Given the description of an element on the screen output the (x, y) to click on. 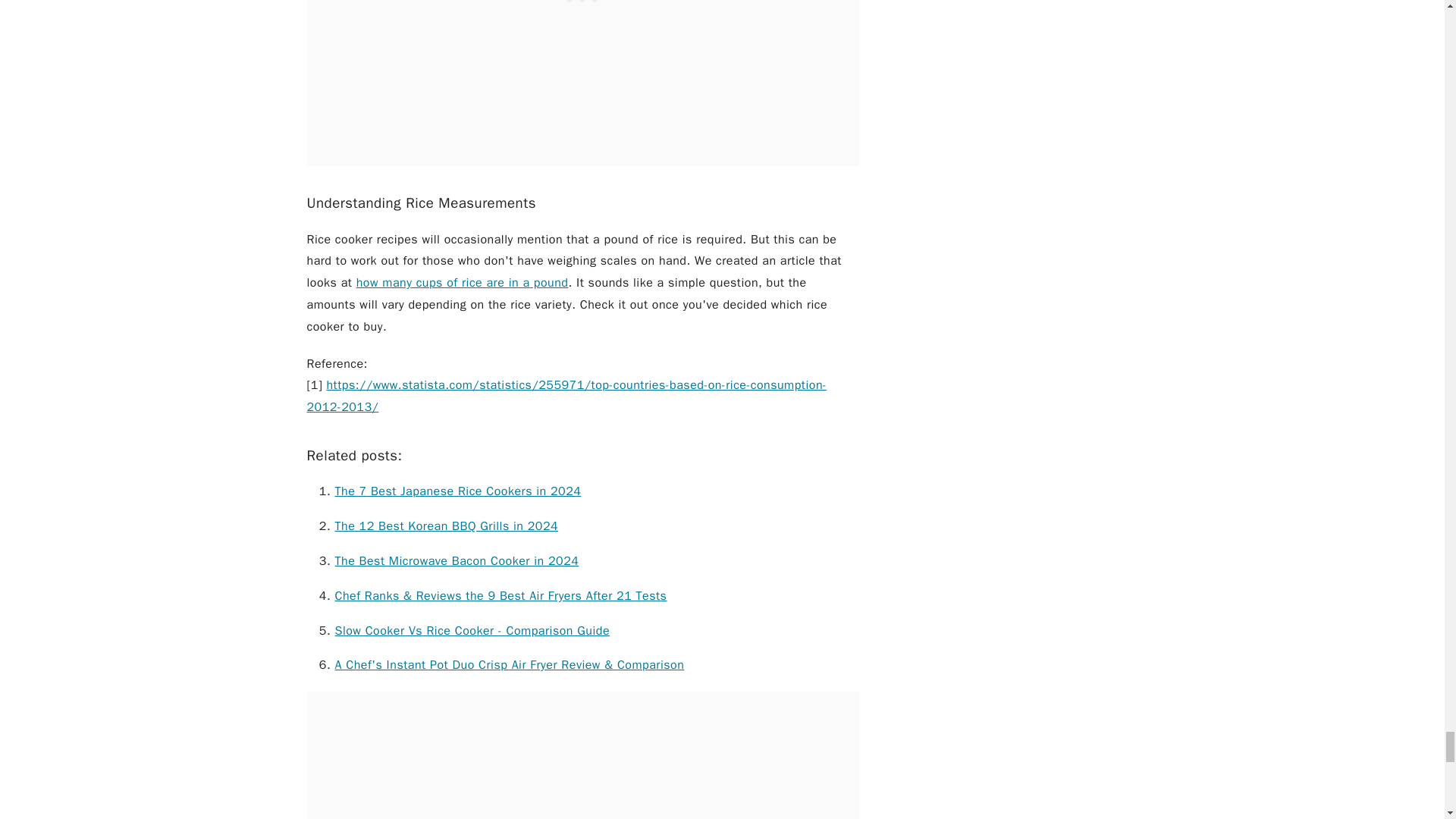
The 7 Best Japanese Rice Cookers in 2024 (457, 491)
